Given the description of an element on the screen output the (x, y) to click on. 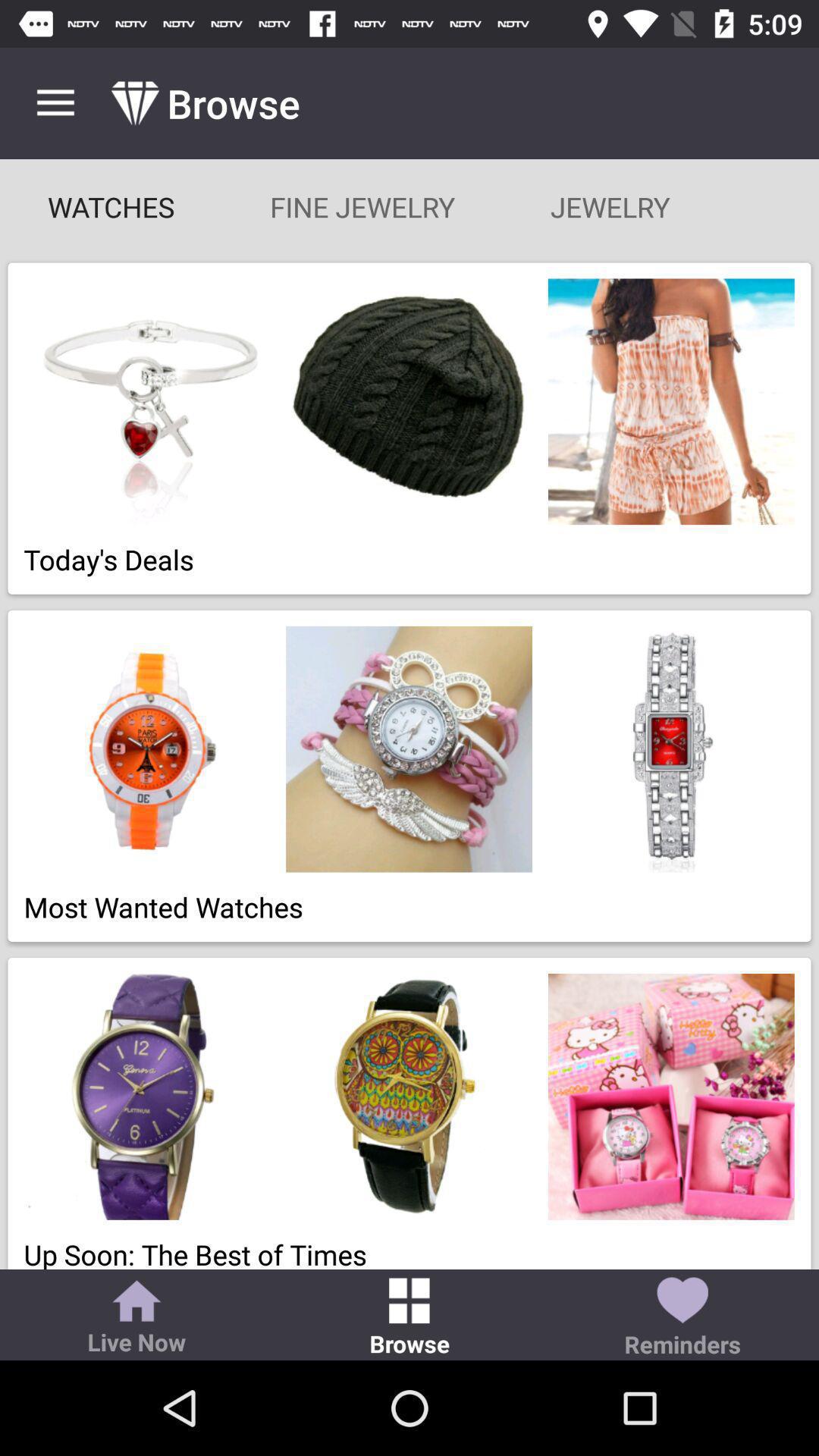
press icon next to the jewelry item (362, 206)
